Given the description of an element on the screen output the (x, y) to click on. 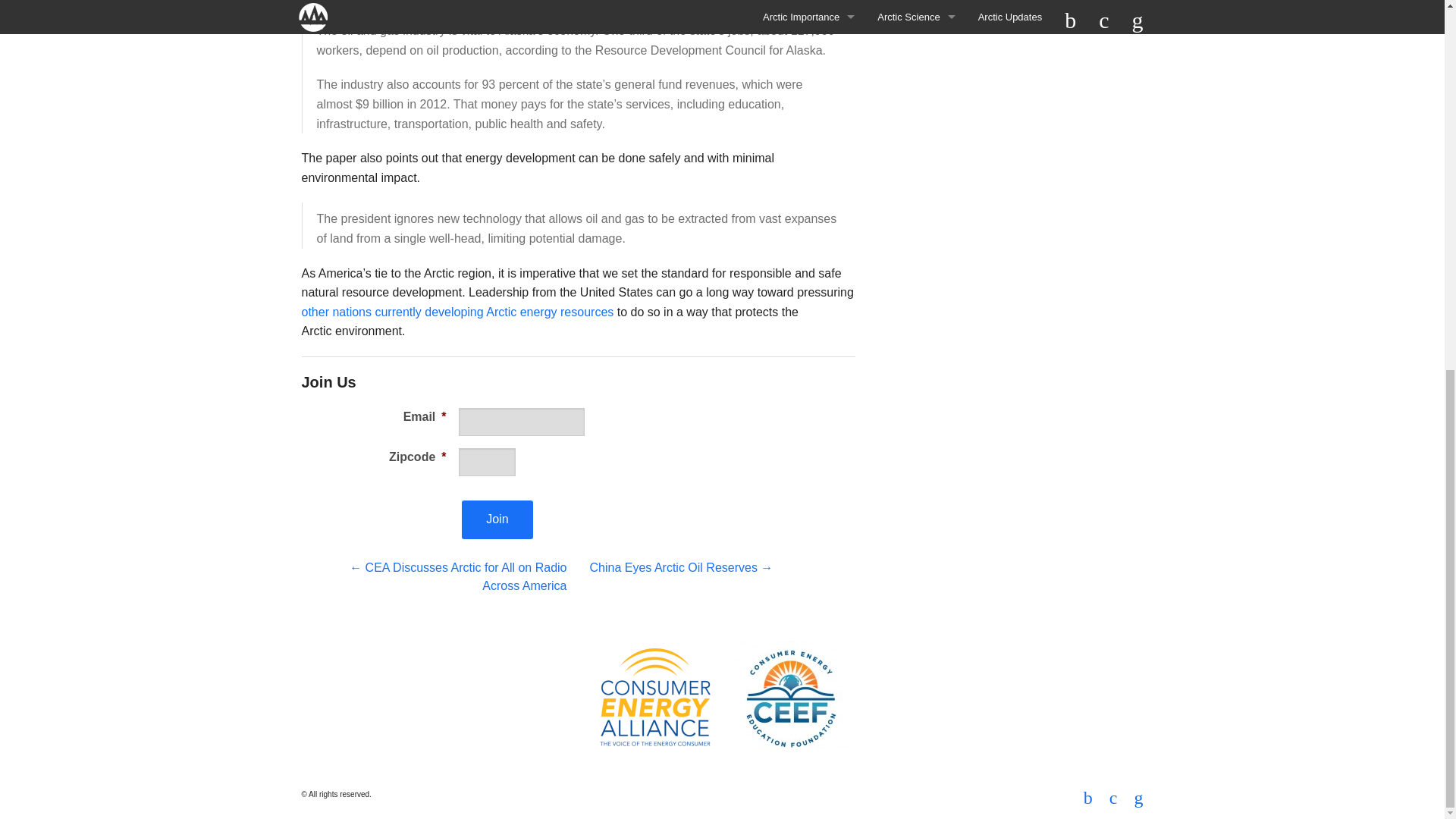
Join (496, 519)
Join (496, 519)
other nations currently developing Arctic energy resources (457, 311)
